Given the description of an element on the screen output the (x, y) to click on. 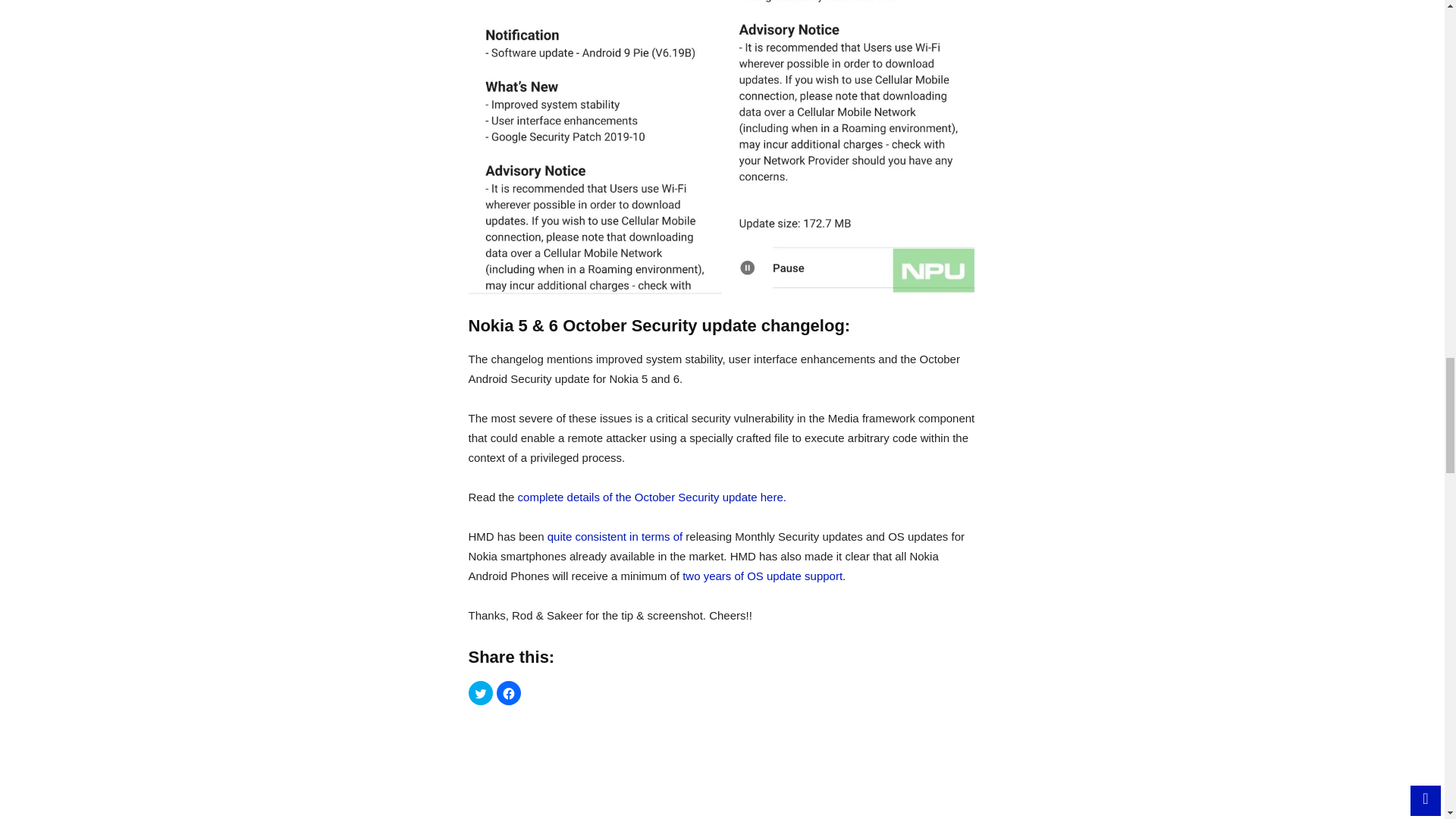
two years of OS update support (762, 575)
quite consistent in terms of (614, 535)
complete details of the October Security update here. (652, 496)
Click to share on Twitter (480, 692)
Click to share on Mastodon (536, 692)
Click to share on Facebook (507, 692)
